Given the description of an element on the screen output the (x, y) to click on. 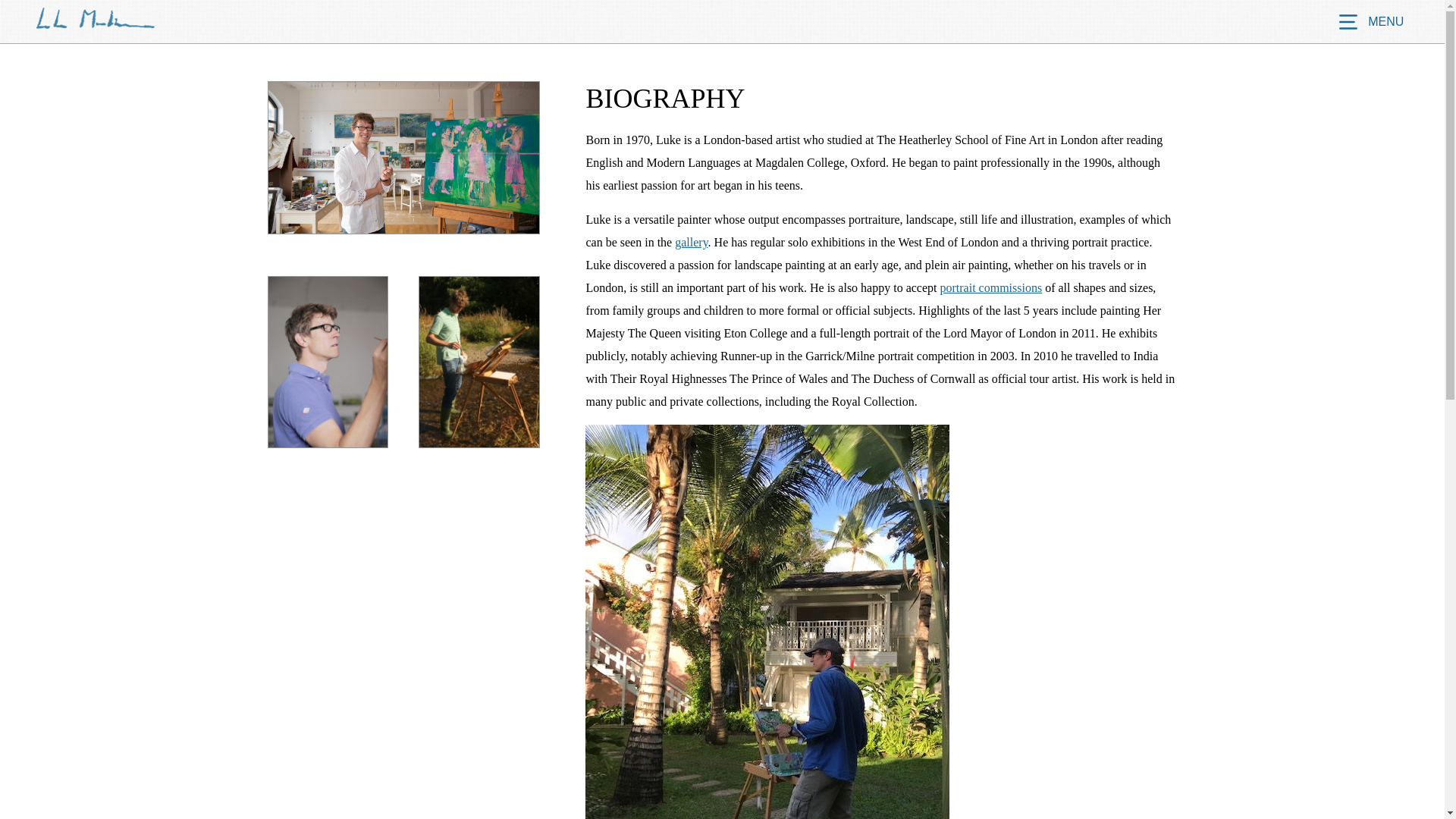
portrait commissions (991, 287)
gallery (691, 241)
MENU (1369, 22)
